Given the description of an element on the screen output the (x, y) to click on. 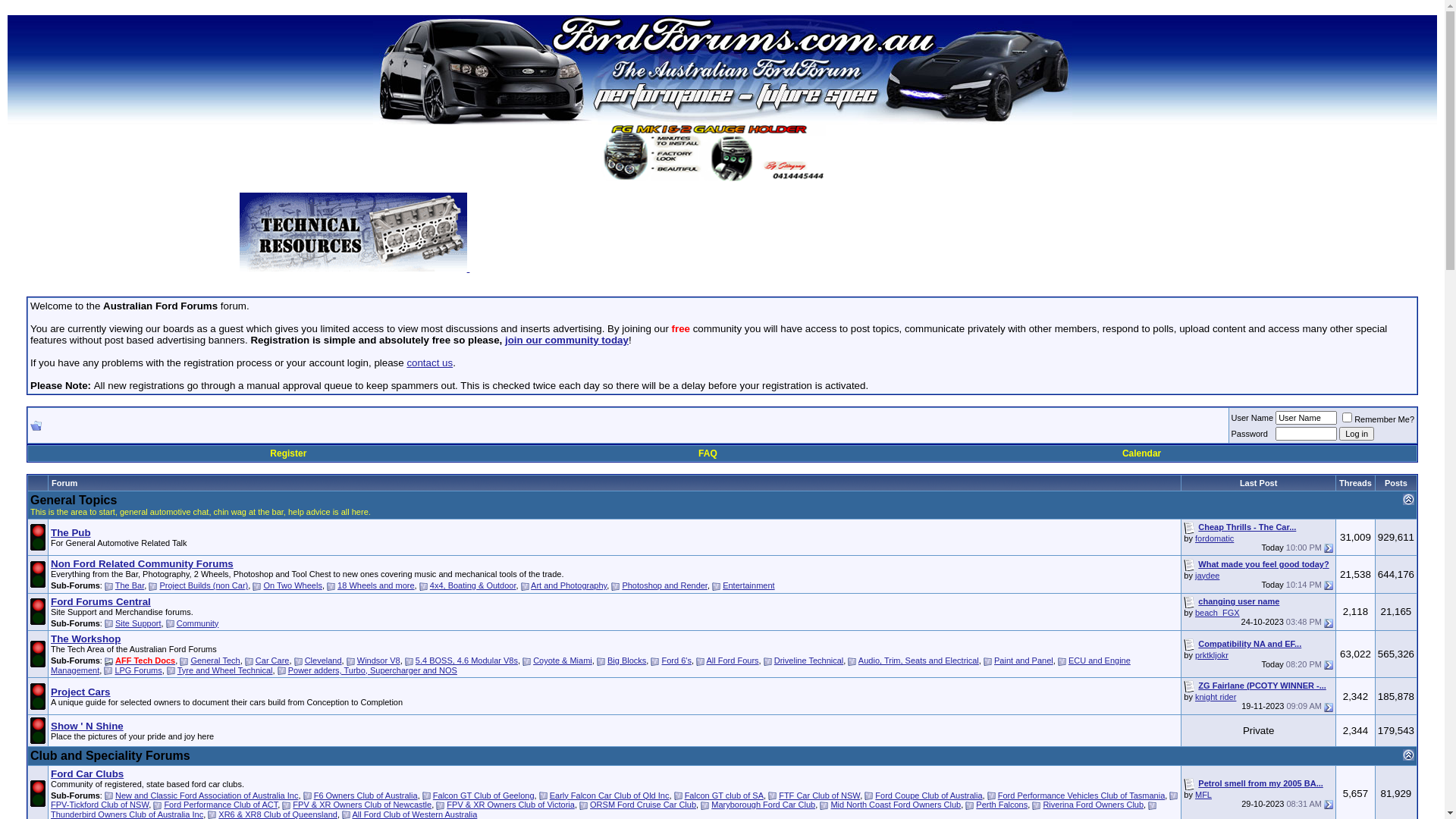
beach_FGX Element type: text (1217, 612)
18 Wheels and more Element type: text (375, 584)
Stingray Element type: hover (721, 152)
Community Element type: text (197, 622)
Go to last post Element type: hover (1328, 707)
Ford Forums Central Element type: text (100, 601)
Car Care Element type: text (272, 660)
Go to last post Element type: hover (1328, 622)
Windsor V8 Element type: text (378, 660)
The Bar Element type: text (129, 584)
Ford Performance Club of ACT Element type: text (220, 804)
Cleveland Element type: text (323, 660)
Early Falcon Car Club of Qld Inc Element type: text (609, 795)
contact us Element type: text (429, 362)
ECU and Engine Management Element type: text (590, 664)
Entertainment Element type: text (748, 584)
The Workshop Element type: text (85, 638)
MFL Element type: text (1203, 794)
Ford Car Clubs Element type: text (86, 773)
Club and Speciality Forums Element type: text (110, 755)
Register Element type: text (287, 453)
Project Builds (non Car) Element type: text (203, 584)
General Tech Element type: text (214, 660)
Project Cars Element type: text (80, 691)
Site Support Element type: text (138, 622)
What made you feel good today? Element type: text (1263, 563)
Driveline Technical Element type: text (809, 660)
Compatibility NA and EF... Element type: text (1249, 643)
Cheap Thrills - The Car... Element type: text (1246, 526)
Ford Coupe Club of Australia Element type: text (928, 795)
Falcon GT Club of Geelong Element type: text (483, 795)
Log in Element type: text (1356, 433)
Go to last post Element type: hover (1328, 664)
New and Classic Ford Association of Australia Inc Element type: text (206, 795)
Paint and Panel Element type: text (1023, 660)
Perth Falcons Element type: text (1001, 804)
General Topics Element type: text (73, 499)
Power adders, Turbo, Supercharger and NOS Element type: text (372, 669)
join our community today Element type: text (566, 339)
ZG Fairlane (PCOTY WINNER -... Element type: text (1261, 685)
FPV & XR Owners Club of Newcastle Element type: text (361, 804)
AFF Tech Docs Element type: text (145, 660)
Go to last post Element type: hover (1328, 804)
Audio, Trim, Seats and Electrical Element type: text (918, 660)
Mid North Coast Ford Owners Club Element type: text (895, 804)
Go to last post Element type: hover (1328, 584)
On Two Wheels Element type: text (292, 584)
Falcon GT club of SA Element type: text (723, 795)
Photoshop and Render Element type: text (664, 584)
F6 Owners Club of Australia Element type: text (365, 795)
Tyre and Wheel Technical Element type: text (225, 669)
Ford Performance Vehicles Club of Tasmania Element type: text (1081, 795)
4x4, Boating & Outdoor Element type: text (472, 584)
All Ford Fours Element type: text (732, 660)
Riverina Ford Owners Club Element type: text (1092, 804)
FPV-Tickford Club of NSW Element type: text (99, 804)
prktkljokr Element type: text (1211, 654)
The Pub Element type: text (70, 532)
fordomatic Element type: text (1214, 537)
5.4 BOSS, 4.6 Modular V8s Element type: text (466, 660)
Show ' N Shine Element type: text (86, 725)
Big Blocks Element type: text (626, 660)
Calendar Element type: text (1141, 453)
Non Ford Related Community Forums Element type: text (141, 563)
Art and Photography Element type: text (568, 584)
jaydee Element type: text (1207, 575)
FPV & XR Owners Club of Victoria Element type: text (510, 804)
ORSM Ford Cruise Car Club Element type: text (642, 804)
Coyote & Miami Element type: text (562, 660)
Go to last post Element type: hover (1328, 547)
FTF Car Club of NSW Element type: text (818, 795)
knight rider Element type: text (1215, 696)
LPG Forums Element type: text (137, 669)
Maryborough Ford Car Club Element type: text (763, 804)
Advertisement Element type: hover (836, 237)
Petrol smell from my 2005 BA... Element type: text (1260, 782)
changing user name Element type: text (1238, 600)
FAQ Element type: text (707, 453)
Ford 6's Element type: text (676, 660)
